Given the description of an element on the screen output the (x, y) to click on. 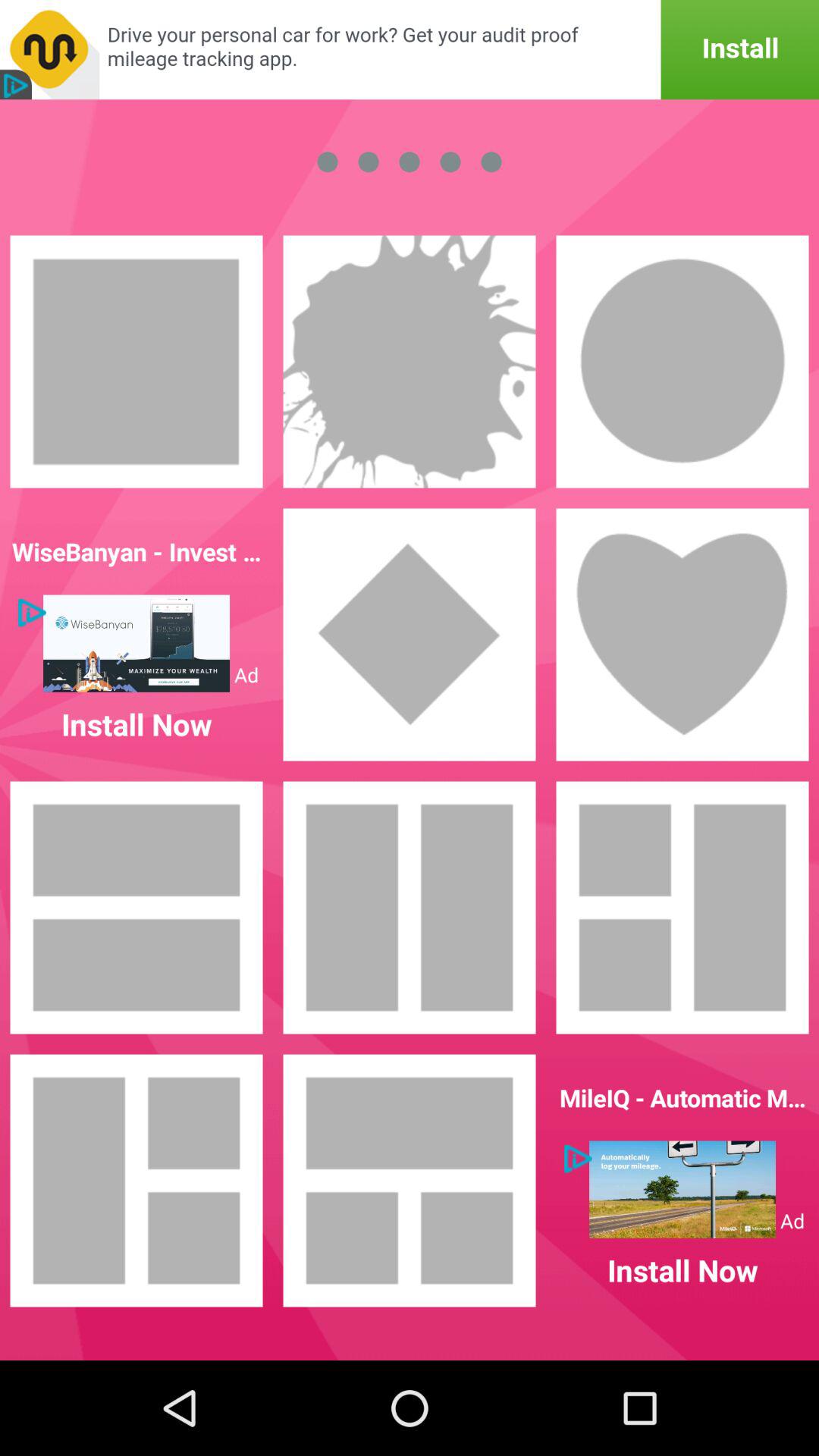
frame selection (682, 634)
